Given the description of an element on the screen output the (x, y) to click on. 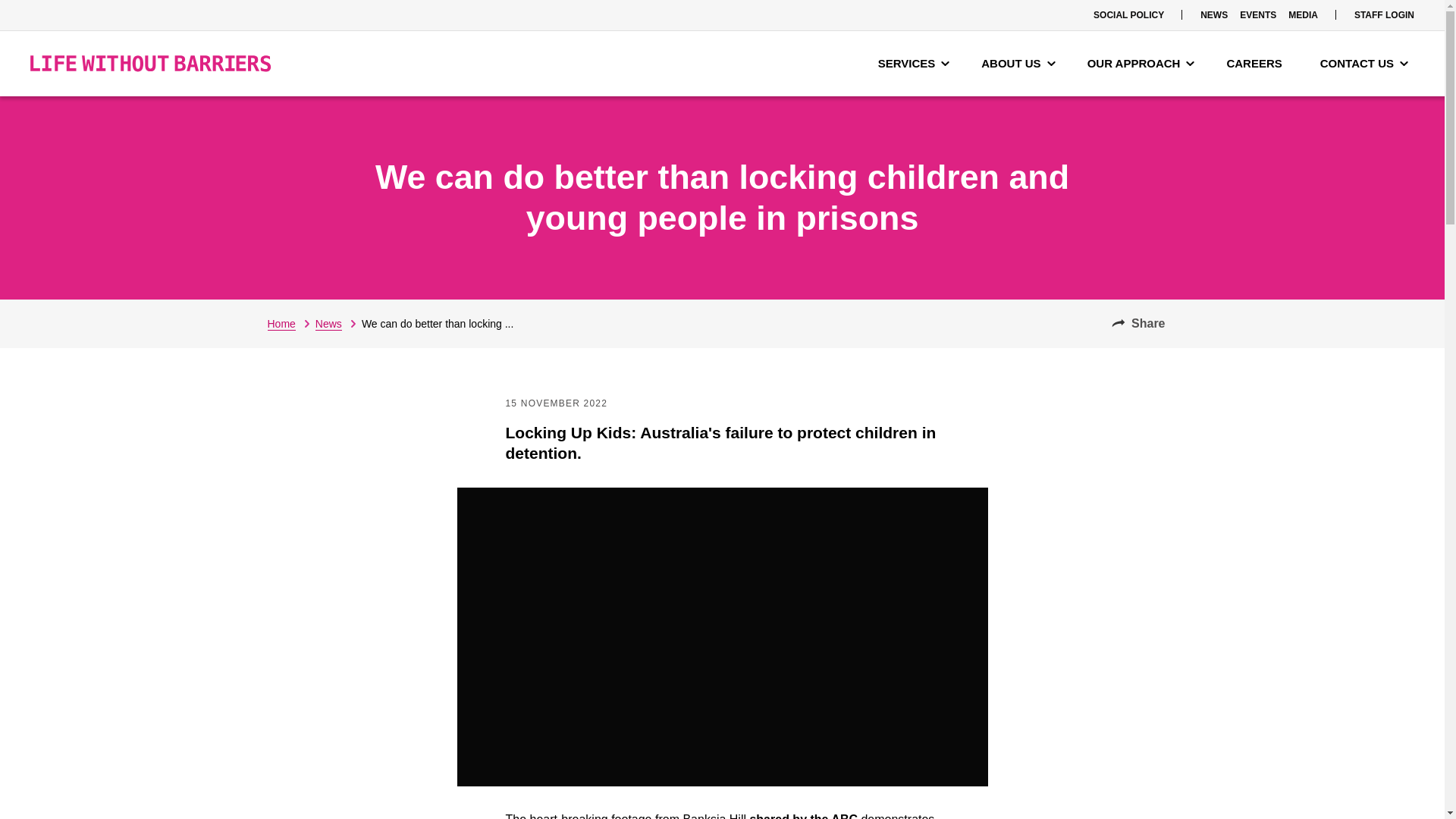
EVENTS (1257, 15)
shared by the ABC (803, 816)
Home (290, 322)
STAFF LOGIN (1384, 15)
Contact us (1364, 63)
Return navigation (290, 322)
Careers (1257, 63)
Share (1137, 322)
SOCIAL POLICY (1128, 15)
Life Without Barriers (150, 63)
About us (1018, 63)
Our approach (1141, 63)
Return to news page (338, 322)
NEWS (1213, 15)
MEDIA (1302, 15)
